Given the description of an element on the screen output the (x, y) to click on. 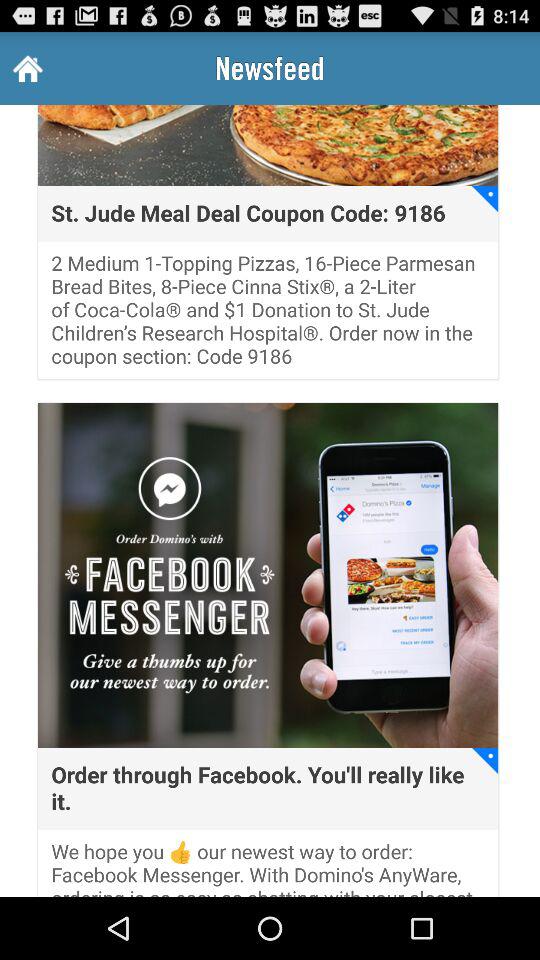
select the 2 medium 1 icon (268, 315)
